Given the description of an element on the screen output the (x, y) to click on. 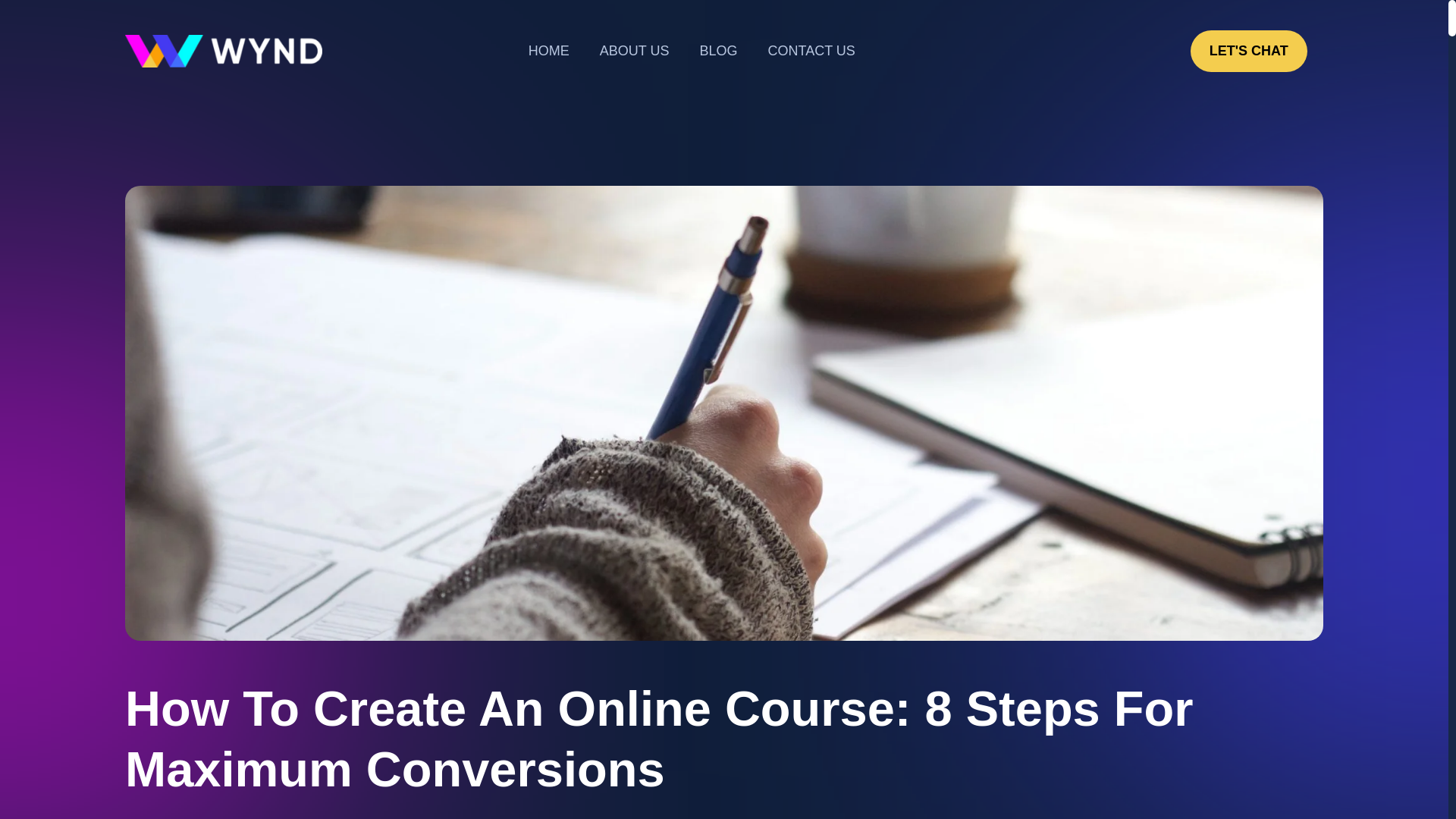
ABOUT US (634, 51)
HOME (549, 51)
CONTACT US (810, 51)
LET'S CHAT (1249, 51)
BLOG (718, 51)
